Given the description of an element on the screen output the (x, y) to click on. 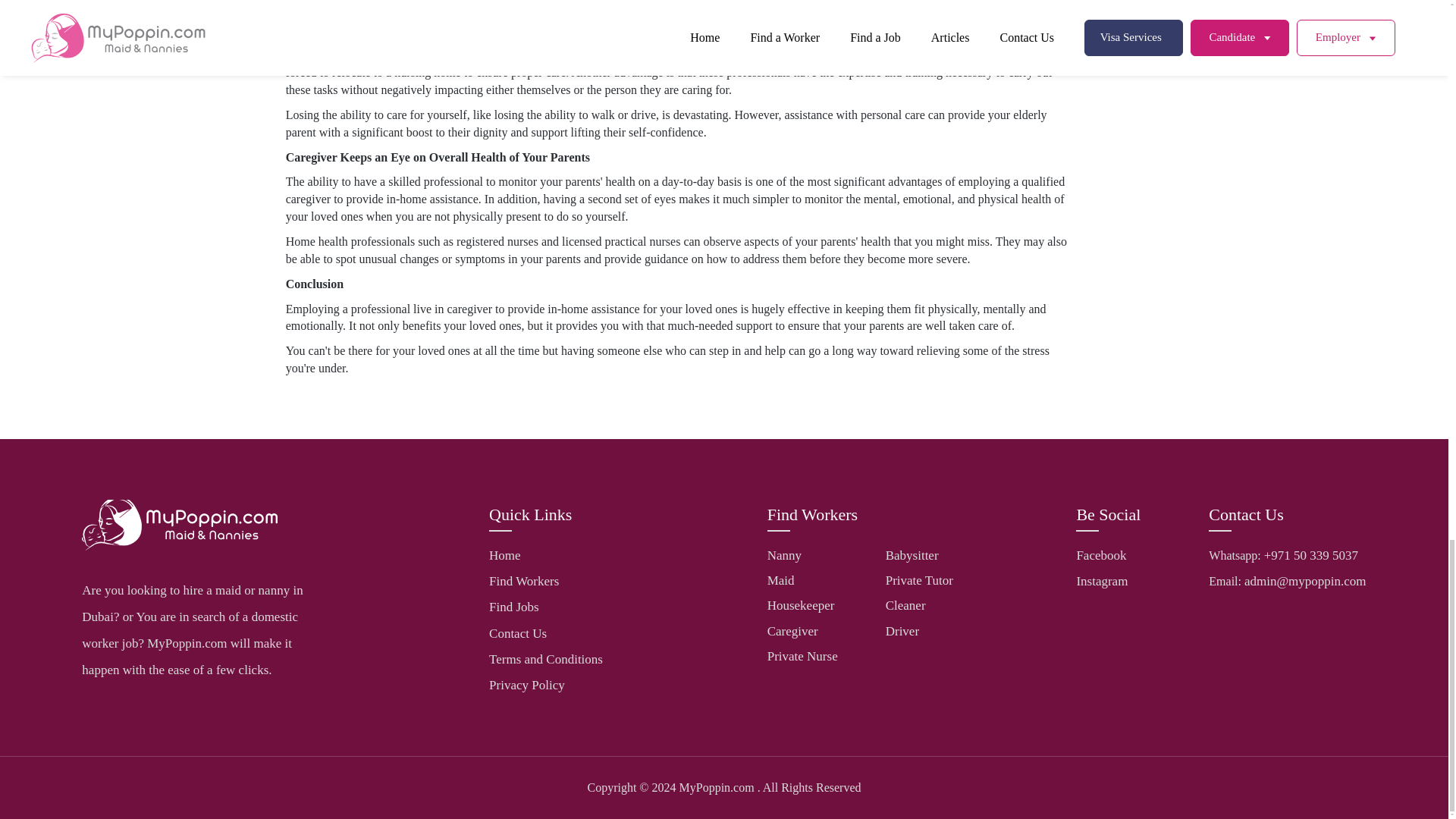
Find Jobs (513, 606)
Facebook (1100, 554)
Maid (780, 580)
Caregiver (792, 631)
Private Tutor (919, 580)
Cleaner (905, 605)
Home (505, 554)
Privacy Policy (526, 685)
Private Nurse (802, 656)
Nanny (784, 554)
Instagram (1100, 581)
Terms and Conditions (545, 658)
Babysitter (912, 554)
Housekeeper (800, 605)
Driver (901, 631)
